Given the description of an element on the screen output the (x, y) to click on. 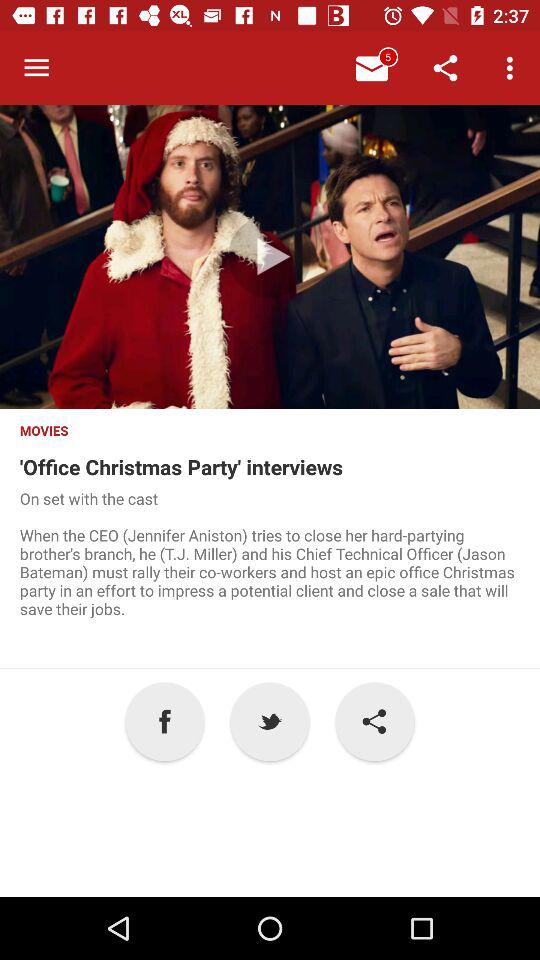
select the icon below the on set with item (269, 721)
